Given the description of an element on the screen output the (x, y) to click on. 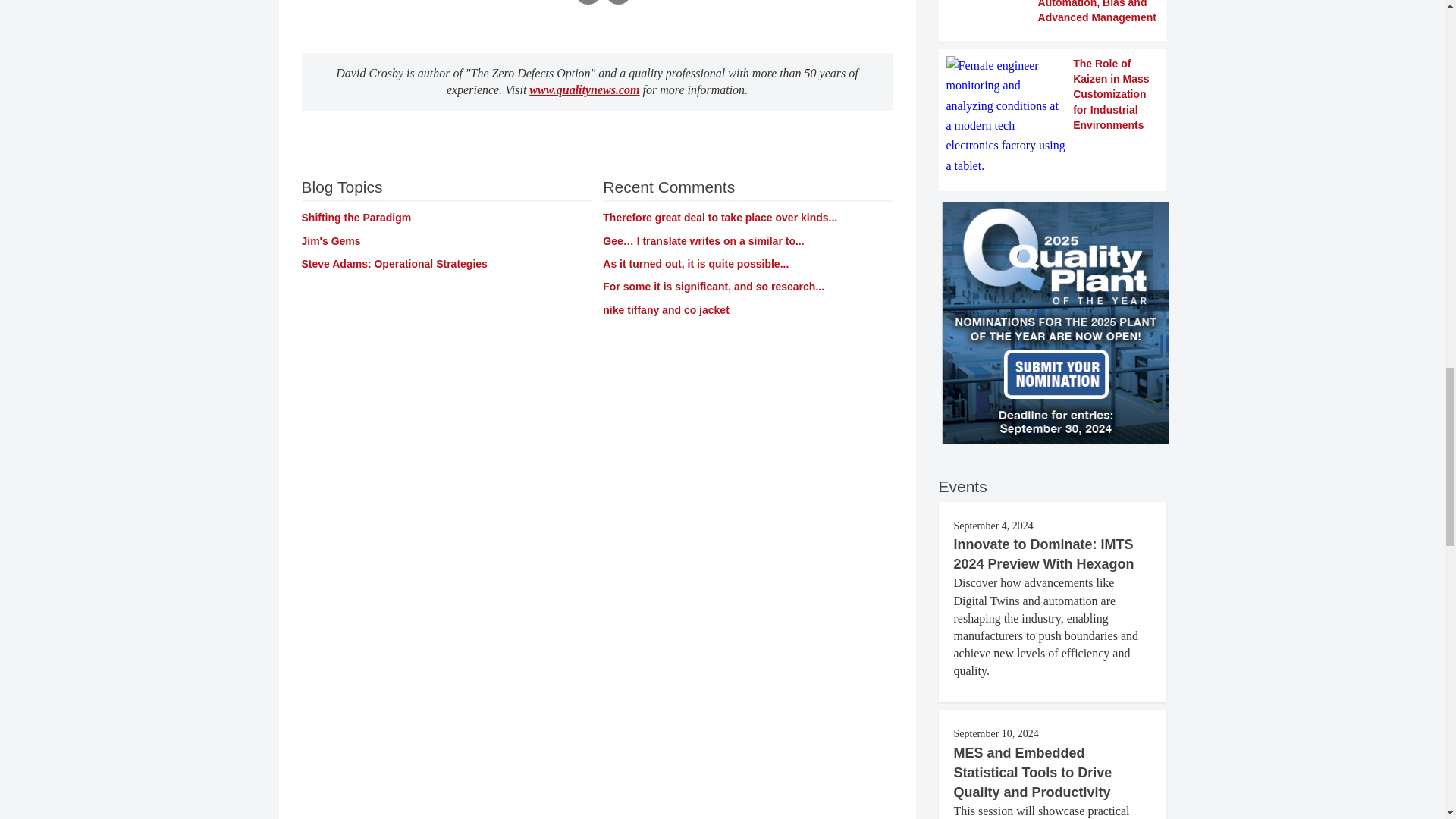
Jim's Gems: Accept Responsibility (713, 286)
Jim's Gems: Accept Responsibility (719, 217)
Jim's Gems (331, 241)
Innovate to Dominate: IMTS 2024 Preview With Hexagon (1043, 554)
Shifting the Paradigm (356, 217)
Why is good help so hard to find? (695, 263)
